Given the description of an element on the screen output the (x, y) to click on. 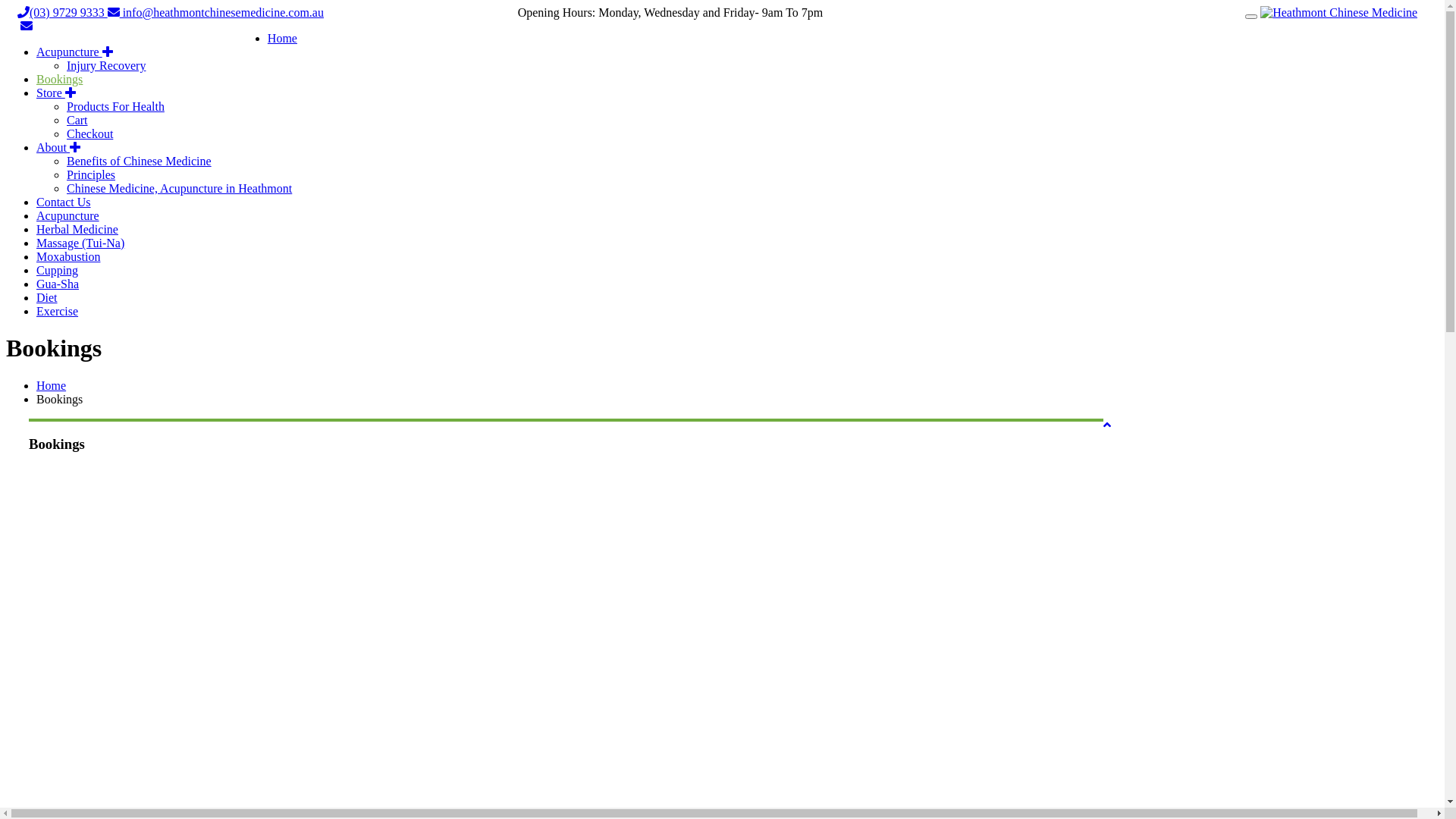
Principles Element type: text (90, 174)
Products For Health Element type: text (115, 106)
Massage (Tui-Na) Element type: text (80, 242)
Diet Element type: text (46, 297)
Contact Us Element type: text (63, 201)
Cart Element type: text (76, 119)
Home Element type: text (282, 37)
Acupuncture Element type: text (67, 215)
Acupuncture Element type: text (74, 51)
Injury Recovery Element type: text (105, 65)
Moxabustion Element type: text (68, 256)
Herbal Medicine Element type: text (77, 228)
Gua-Sha Element type: text (57, 283)
Home Element type: text (50, 385)
Heathmont Chinese Medicine Element type: hover (1338, 12)
(03) 9729 9333 Element type: text (62, 12)
Checkout Element type: text (89, 133)
info@heathmontchinesemedicine.com.au Element type: text (215, 12)
Cupping Element type: text (57, 269)
About Element type: text (58, 147)
Chinese Medicine, Acupuncture in Heathmont Element type: text (178, 188)
Exercise Element type: text (57, 310)
Bookings Element type: text (59, 78)
Benefits of Chinese Medicine Element type: text (138, 160)
Store Element type: text (55, 92)
Toggle navigation Element type: text (1251, 16)
